Given the description of an element on the screen output the (x, y) to click on. 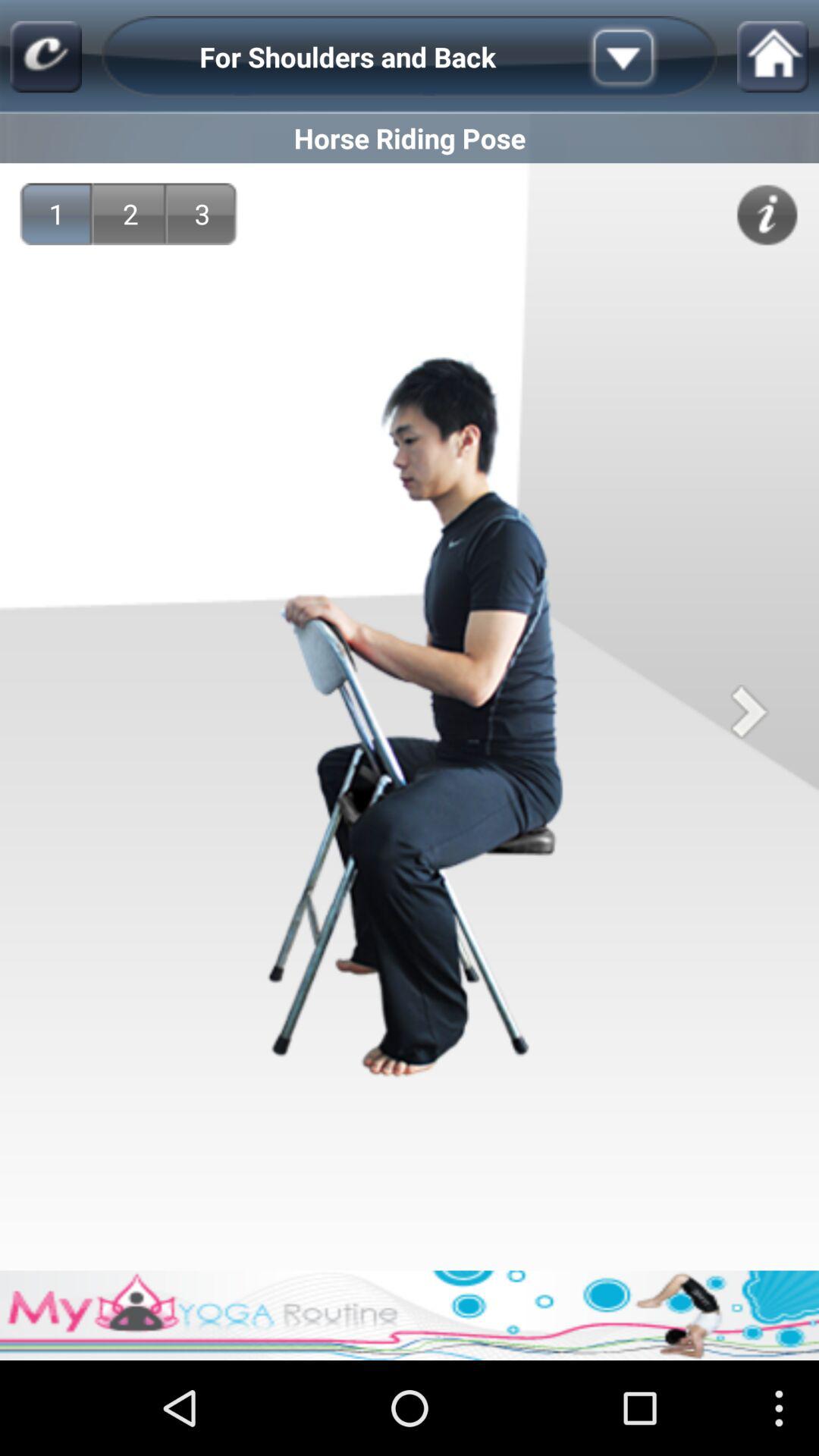
click on advertisement (409, 1315)
